Given the description of an element on the screen output the (x, y) to click on. 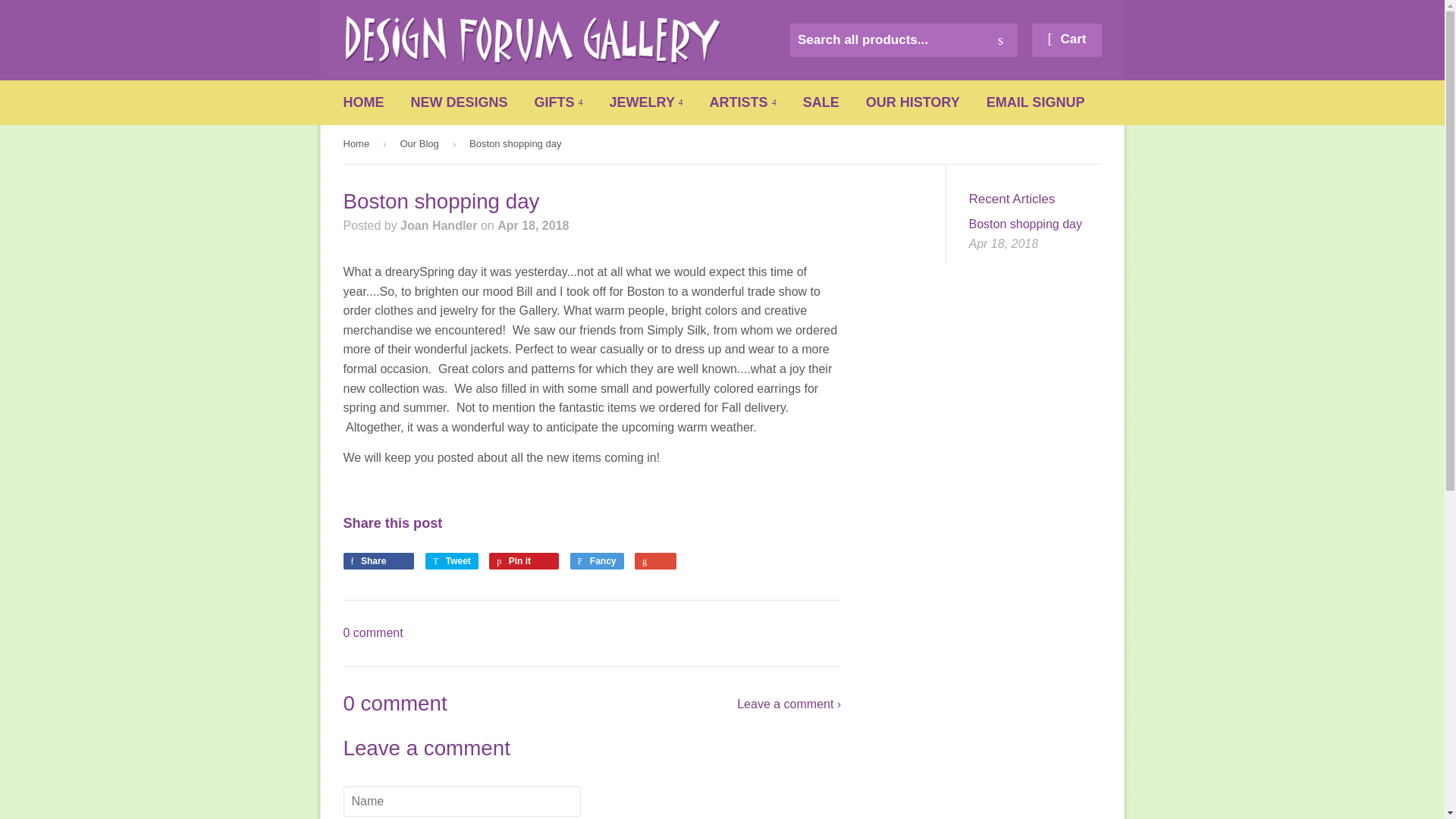
Cart (1066, 39)
NEW DESIGNS (458, 102)
Search (1000, 40)
JEWELRY (646, 102)
GIFTS (558, 102)
HOME (363, 102)
ARTISTS (742, 102)
